Given the description of an element on the screen output the (x, y) to click on. 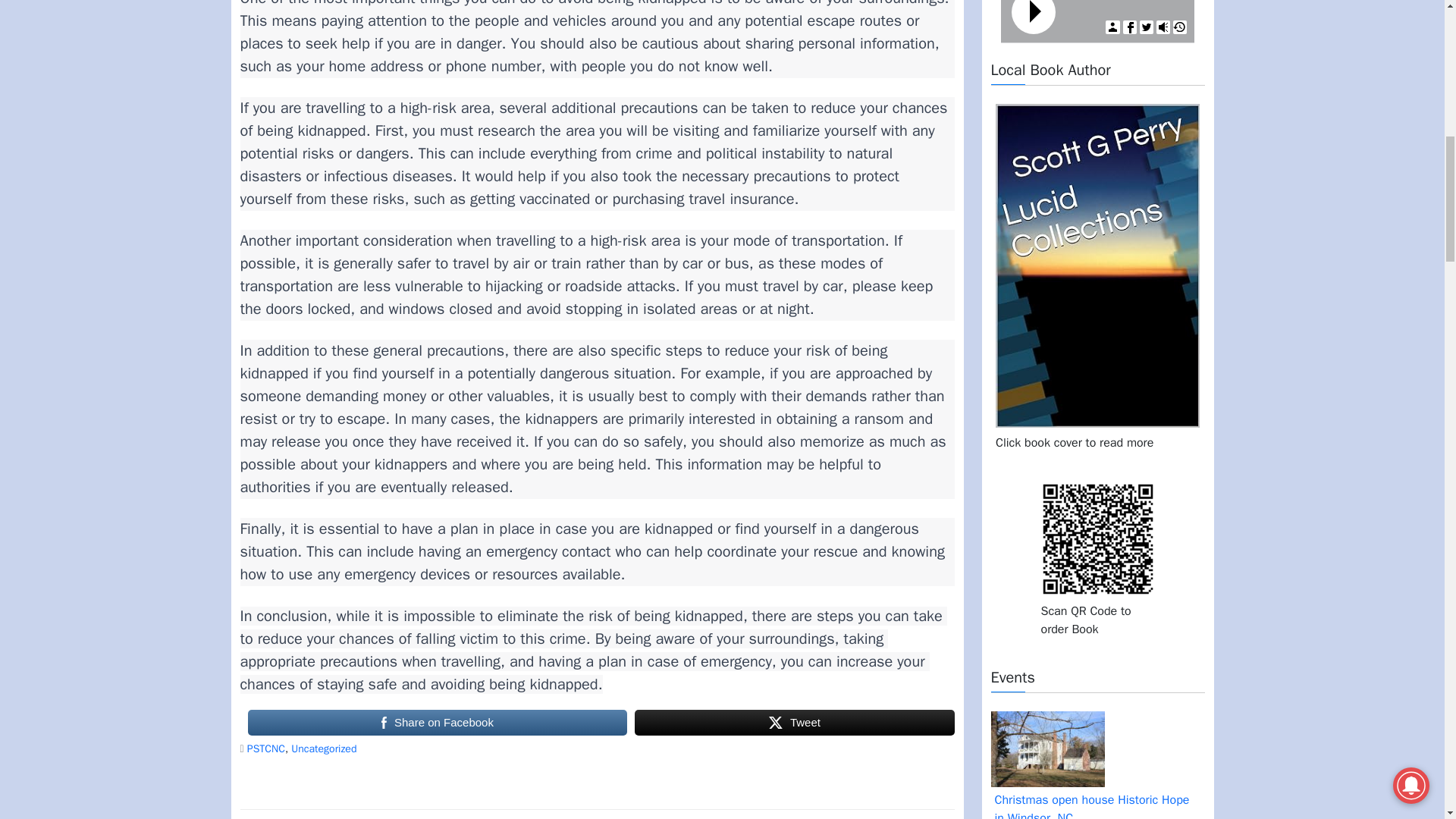
Share on Facebook (437, 722)
PSTCNC (266, 748)
Uncategorized (323, 748)
Christmas open house Historic Hope in Windsor, NC (1097, 803)
Tweet (793, 722)
Facebook (1129, 27)
Twitter (1146, 27)
